Given the description of an element on the screen output the (x, y) to click on. 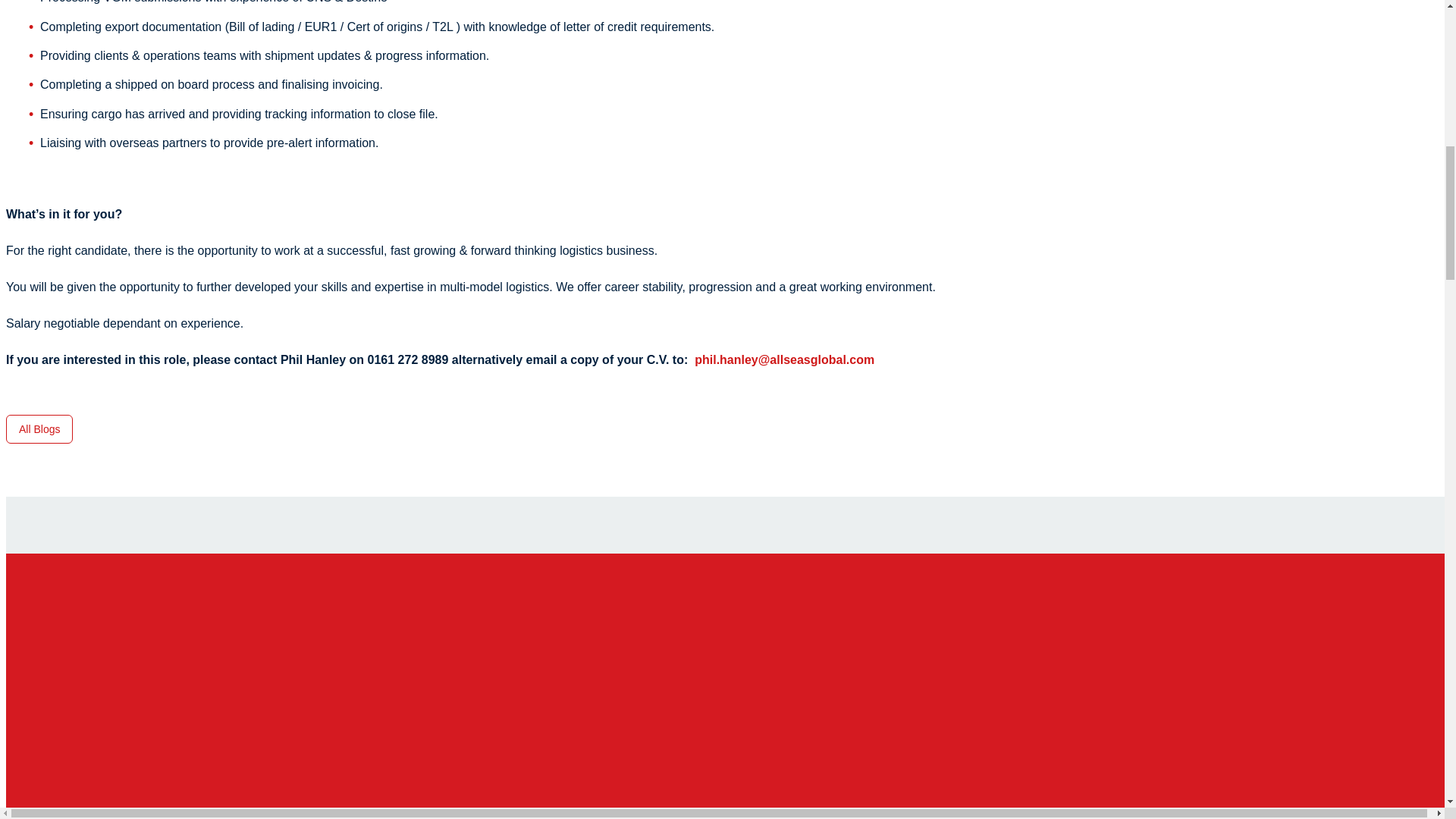
All Blogs (38, 428)
